Given the description of an element on the screen output the (x, y) to click on. 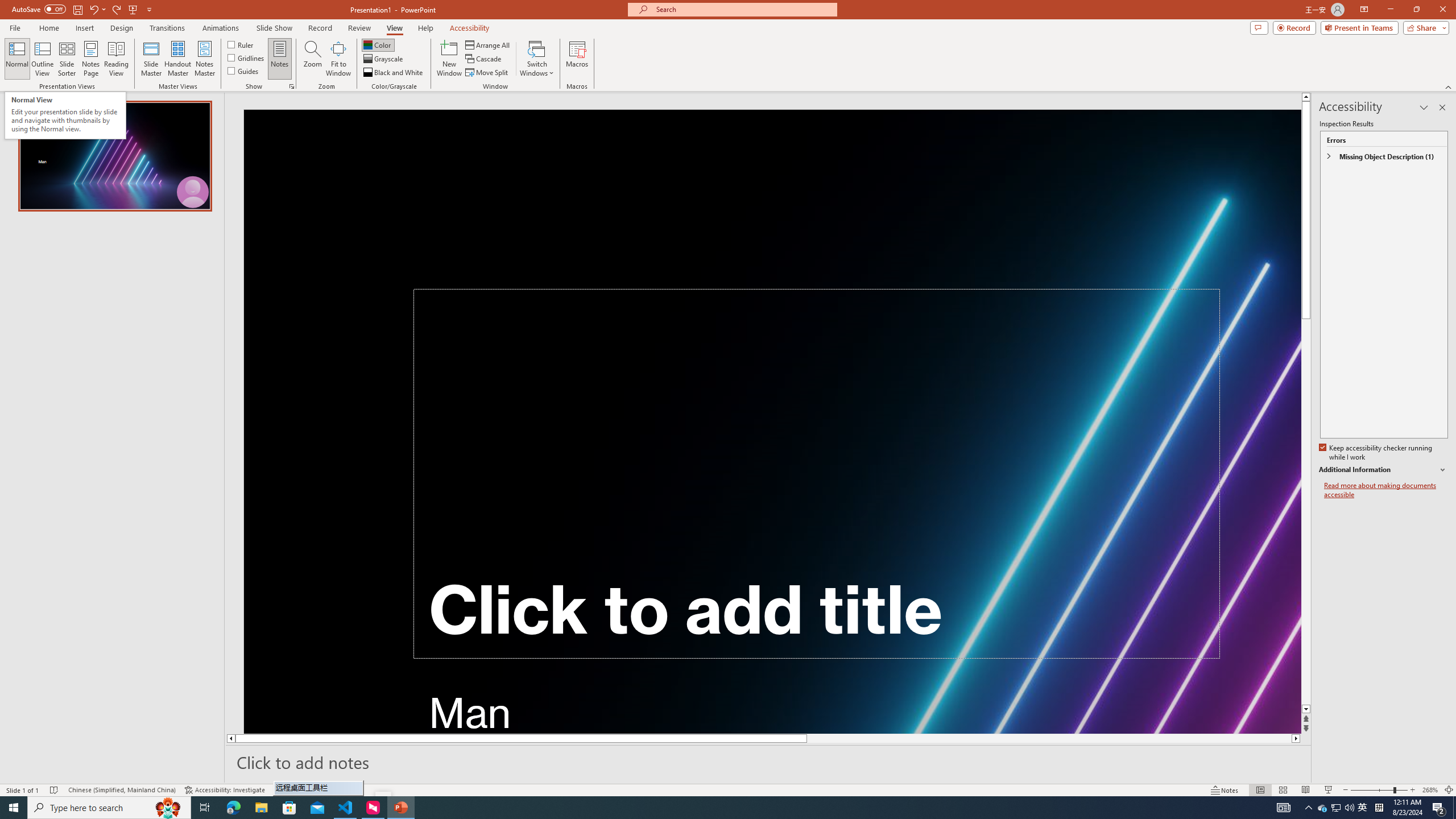
Move Split (487, 72)
Decorative Locked (772, 421)
Cascade (484, 58)
Guides (243, 69)
Notes (279, 58)
